Given the description of an element on the screen output the (x, y) to click on. 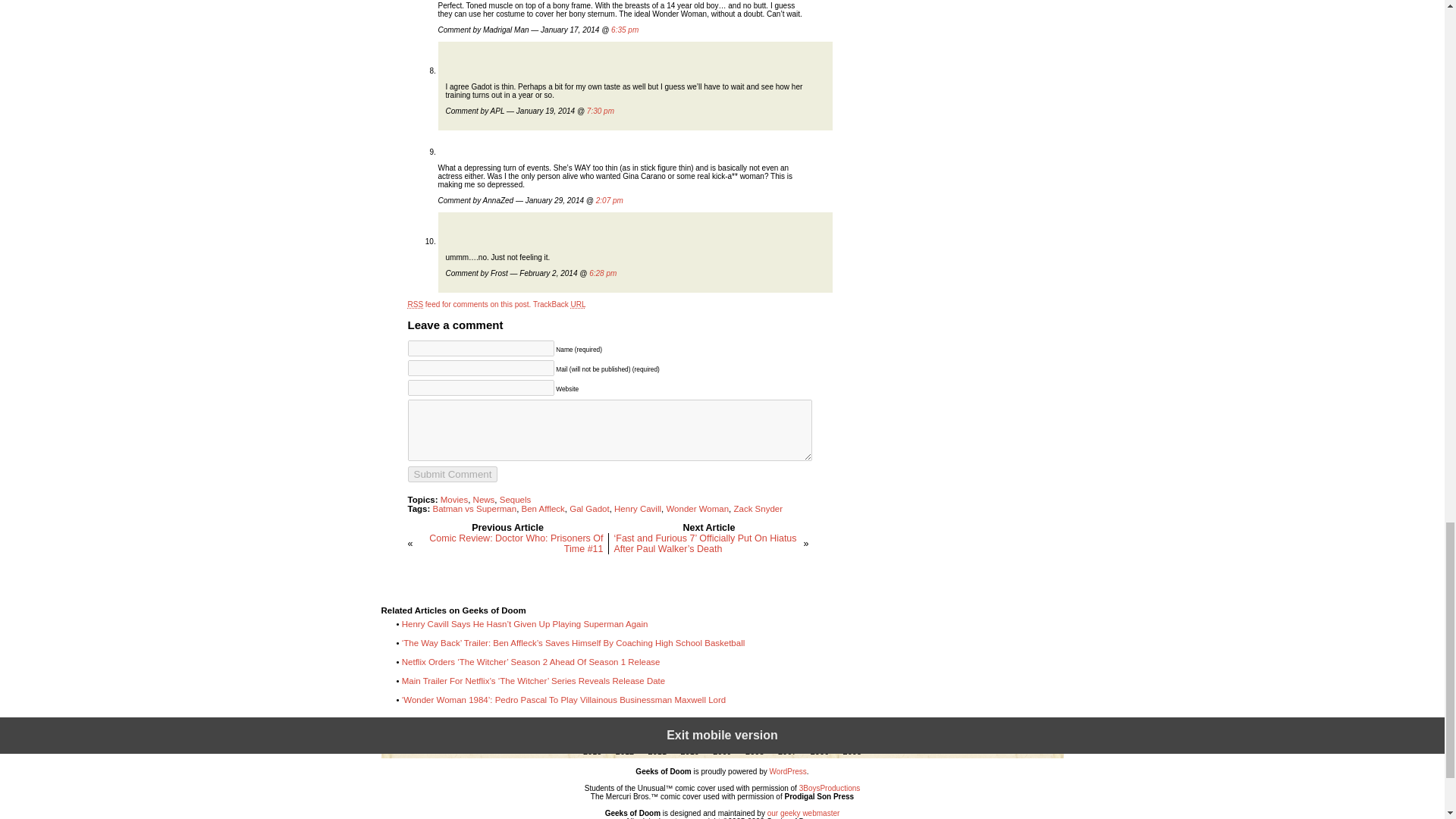
News (484, 499)
6:35 pm (625, 29)
Submit Comment (452, 474)
Batman vs Superman (474, 508)
6:28 pm (602, 273)
Universal Resource Locator (578, 304)
TrackBack URL (559, 304)
Wonder Woman (697, 508)
Movies (454, 499)
Ben Affleck (542, 508)
